Given the description of an element on the screen output the (x, y) to click on. 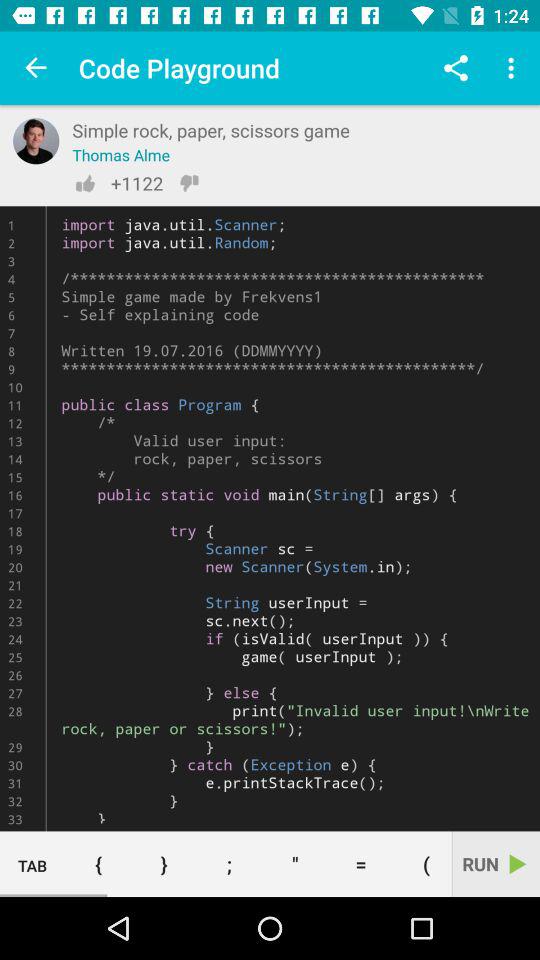
vote thumbs down (189, 183)
